Given the description of an element on the screen output the (x, y) to click on. 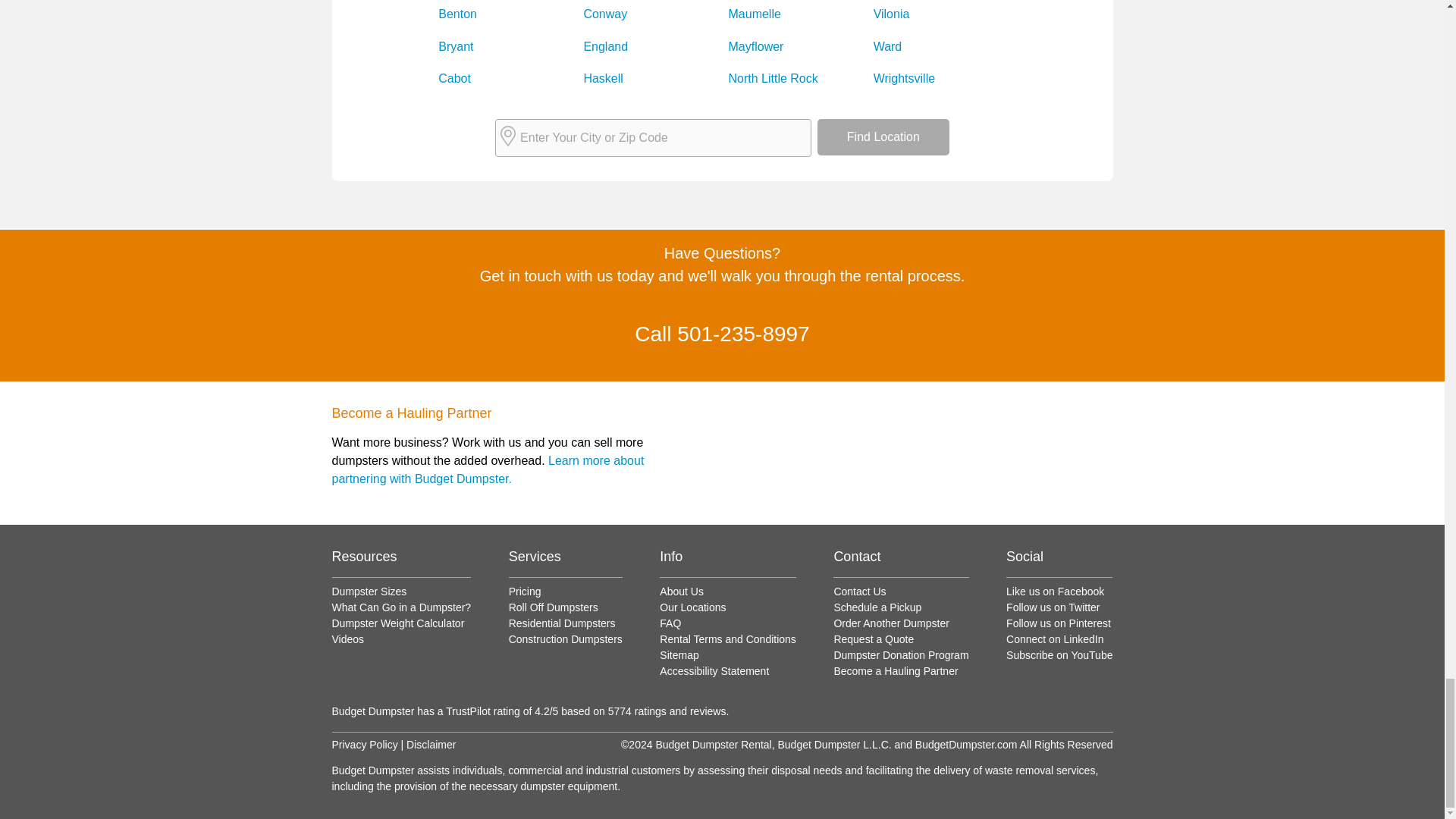
disclaimer (430, 744)
disclaimer (364, 744)
